Given the description of an element on the screen output the (x, y) to click on. 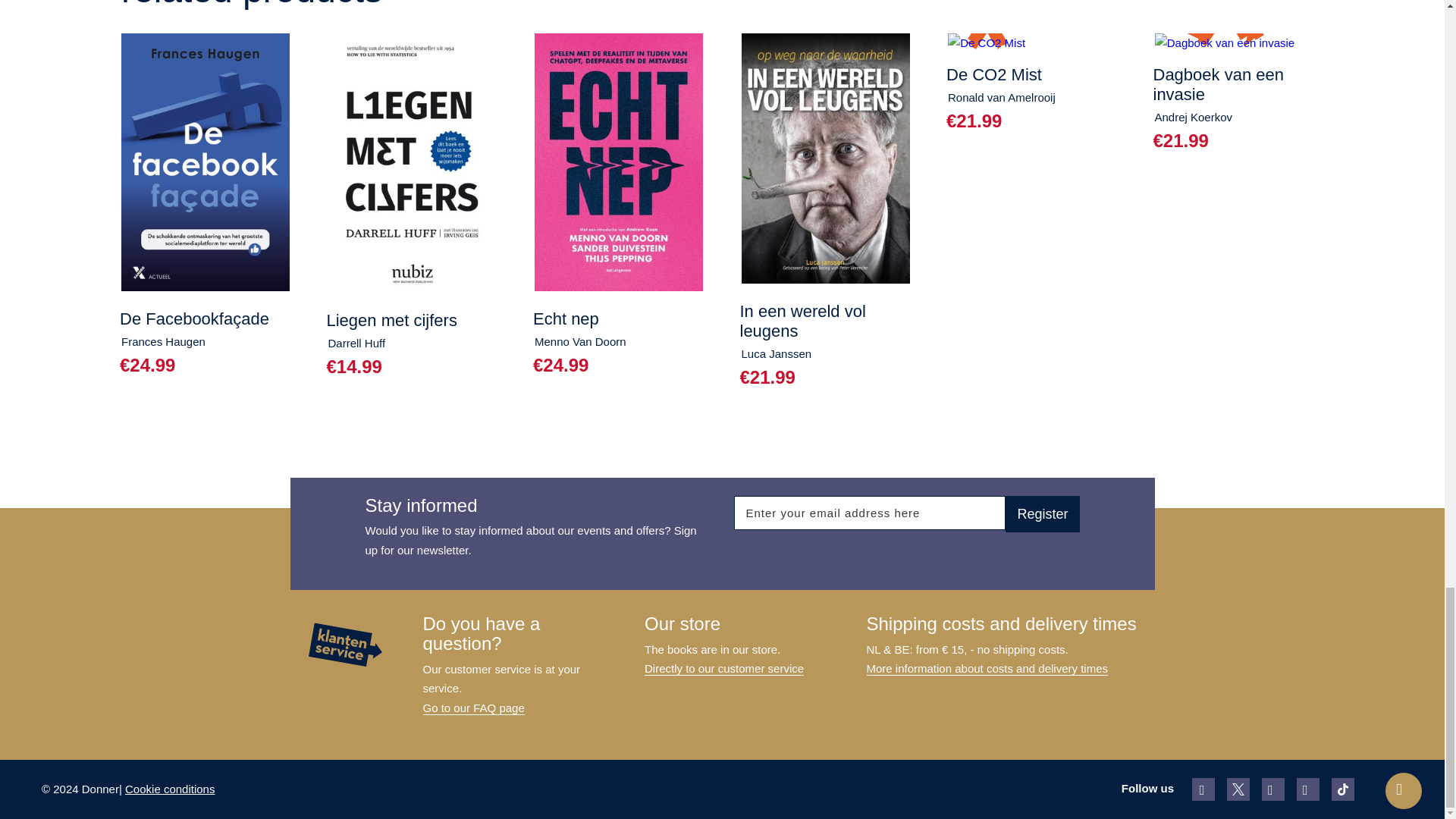
follow us on TikTok (1343, 789)
follow us on X (1238, 789)
Follow us on Facebook (1203, 789)
Read more about De CO2 Mist (1032, 59)
Follow us on YouTube (1308, 789)
Read more about Dagboek van een invasie (1238, 68)
Register (1042, 514)
Follow us on Instagram (1273, 789)
